Given the description of an element on the screen output the (x, y) to click on. 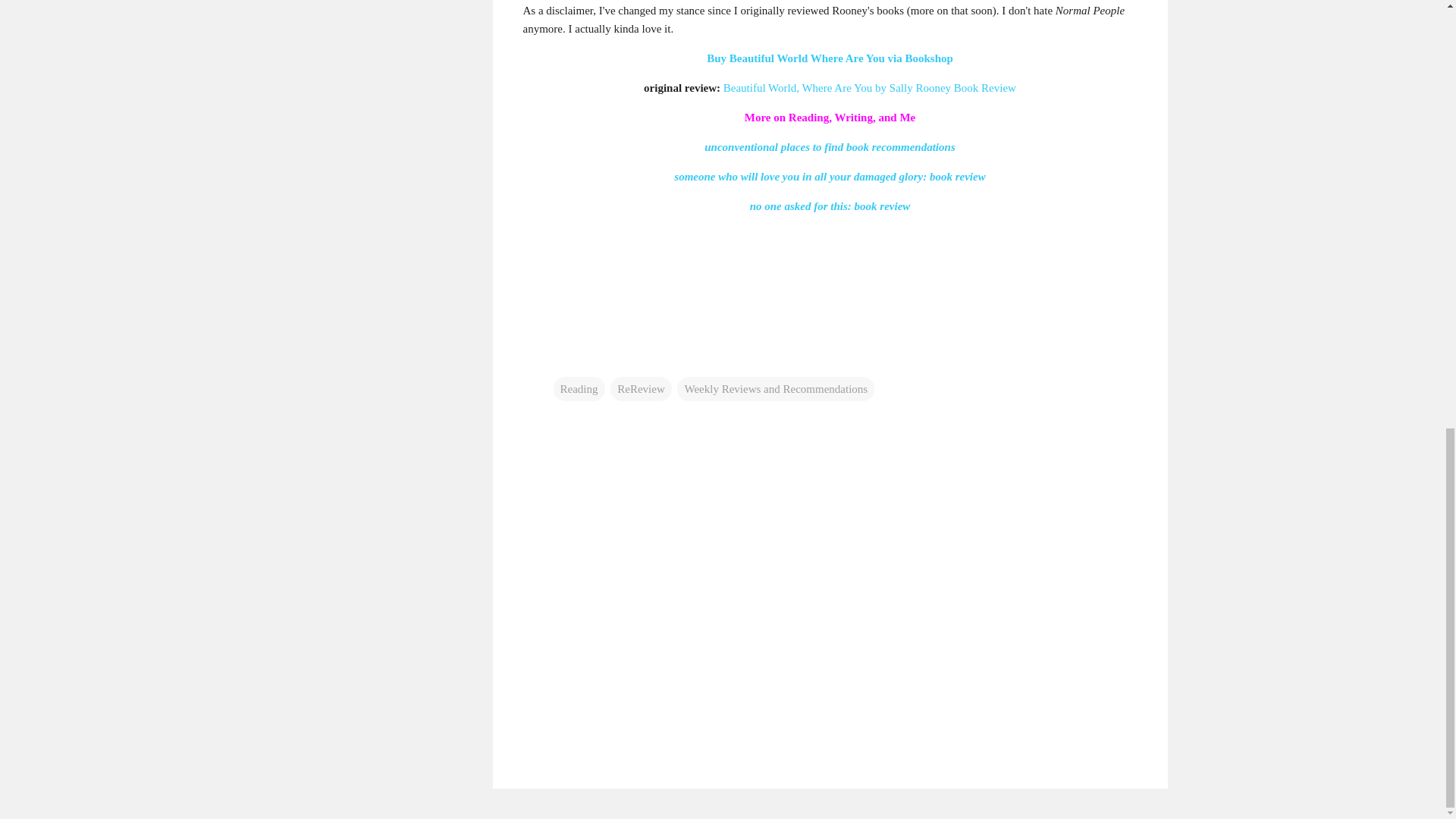
Reading (579, 387)
ReReview (640, 387)
Email Post (562, 357)
no one asked for this: book review (830, 205)
Buy Beautiful World Where Are You via Bookshop (829, 57)
Weekly Reviews and Recommendations (776, 387)
Beautiful World, Where Are You by Sally Rooney Book Review (869, 87)
unconventional places to find book recommendations (829, 146)
